Given the description of an element on the screen output the (x, y) to click on. 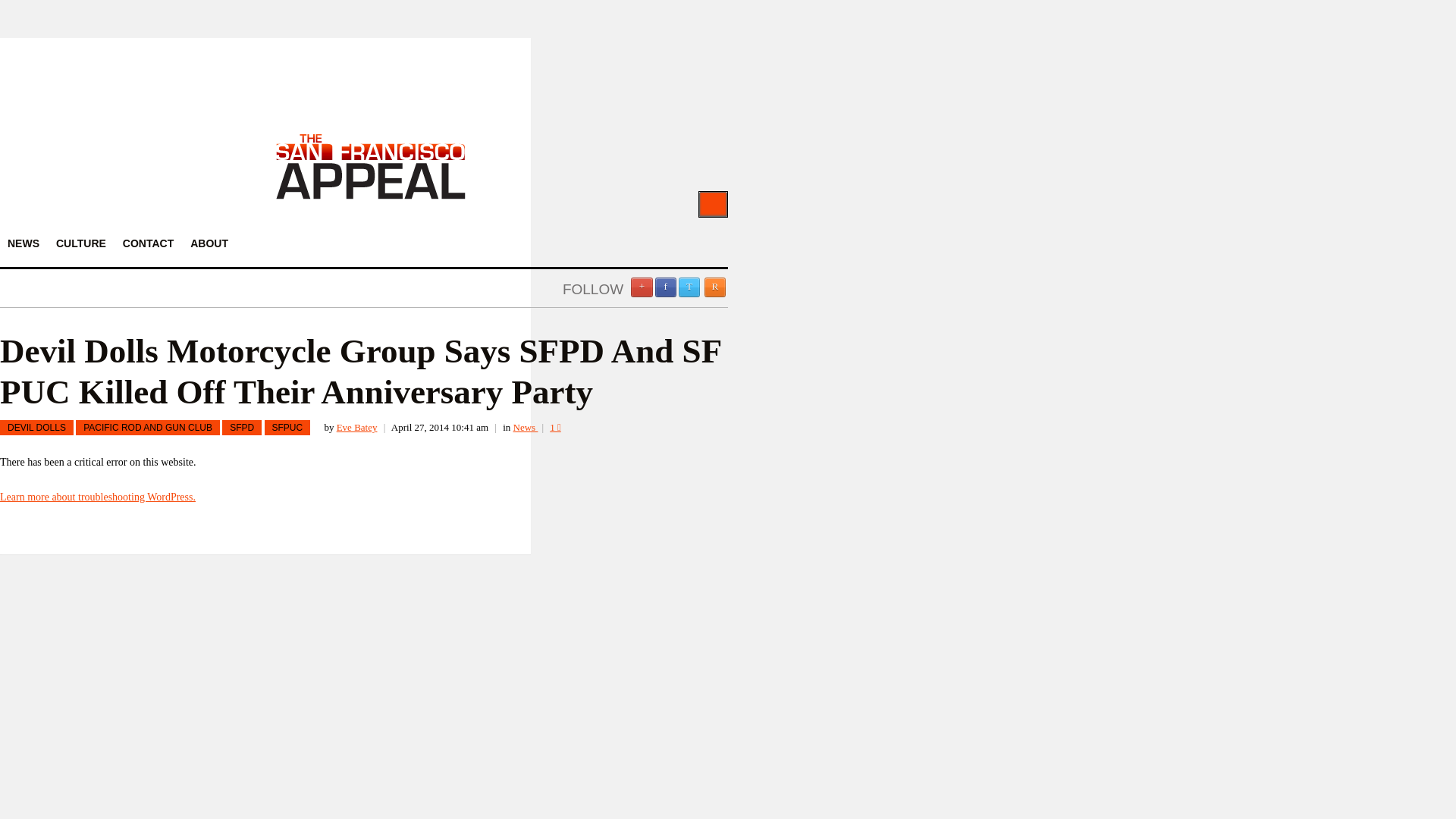
Eve Batey (356, 427)
NEWS (23, 243)
DEVIL DOLLS (37, 427)
SFPD (242, 427)
Posts by Eve Batey (356, 427)
ABOUT (209, 243)
CULTURE (80, 243)
SFPUC (286, 427)
News (525, 427)
Learn more about troubleshooting WordPress. (97, 496)
